Given the description of an element on the screen output the (x, y) to click on. 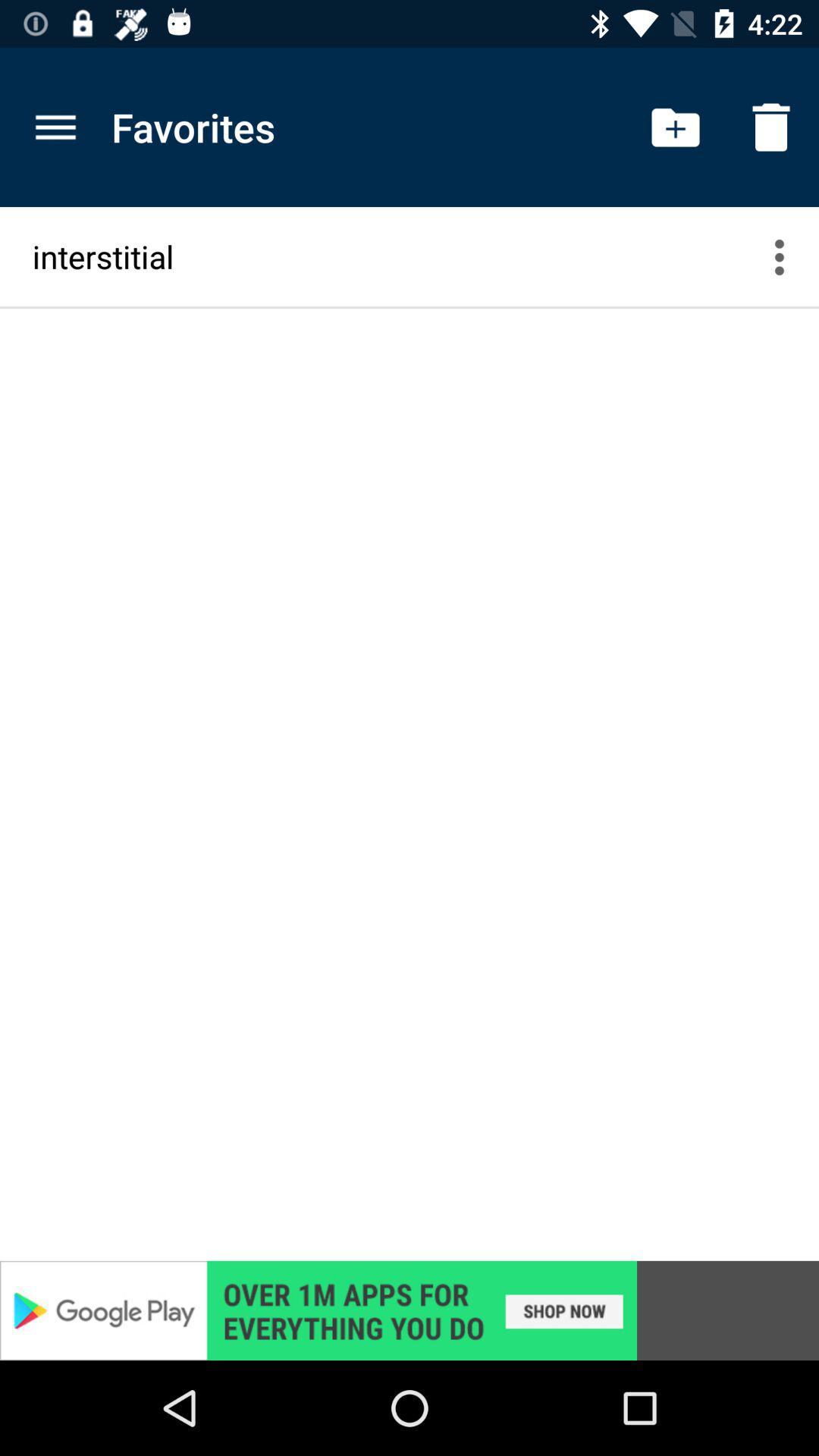
view advertisement (409, 1310)
